Given the description of an element on the screen output the (x, y) to click on. 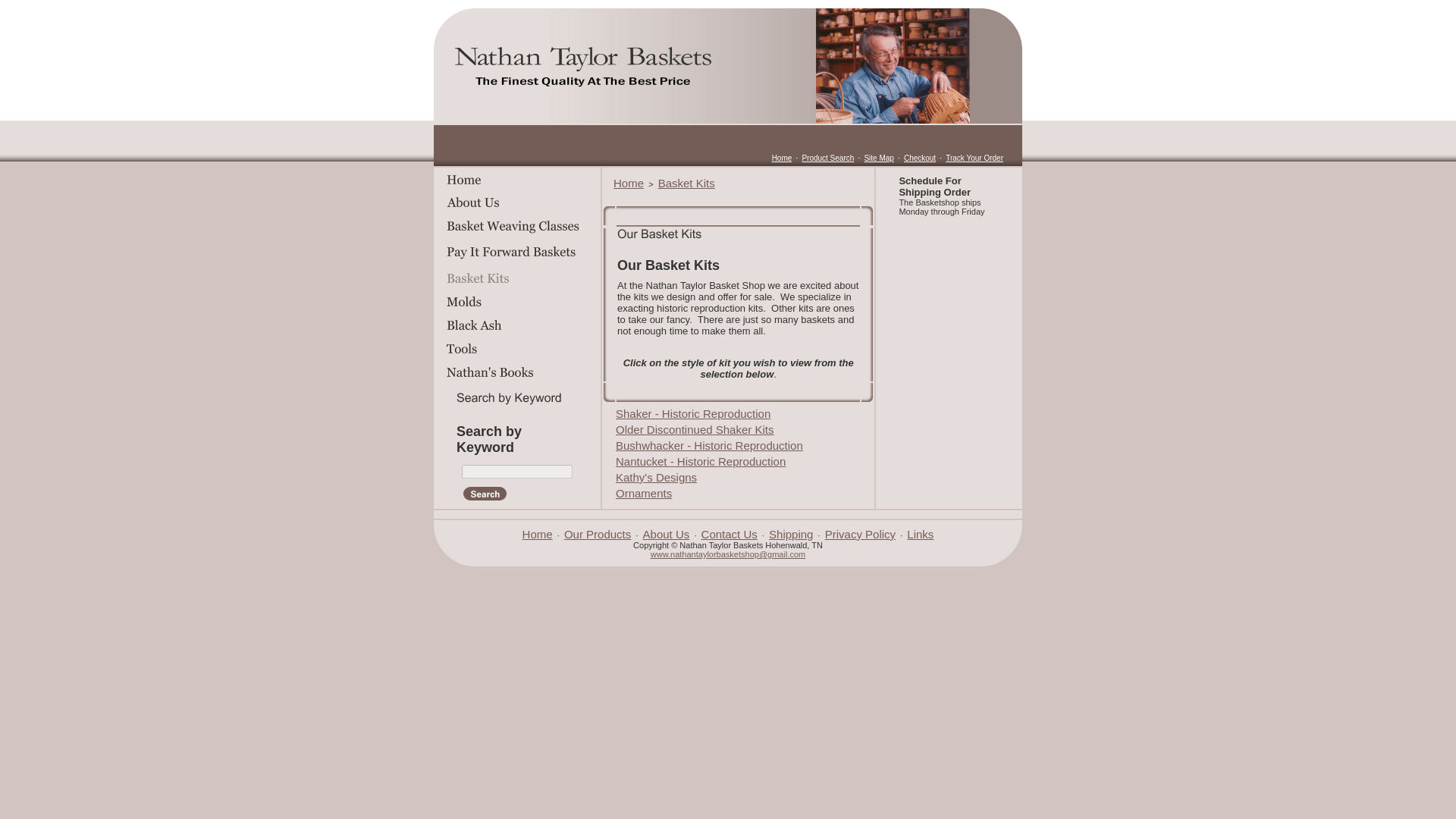
Site Map (878, 157)
Links (920, 533)
Older Discontinued Shaker Kits (694, 429)
Track Your Order (973, 157)
Privacy Policy (860, 533)
Home (537, 533)
Checkout (920, 157)
Shaker - Historic Reproduction (692, 413)
Home (781, 157)
Kathy's Designs (656, 477)
Nantucket - Historic Reproduction (700, 461)
Home (627, 182)
About Us (666, 533)
Product Search (827, 157)
Bushwhacker - Historic Reproduction (709, 445)
